Given the description of an element on the screen output the (x, y) to click on. 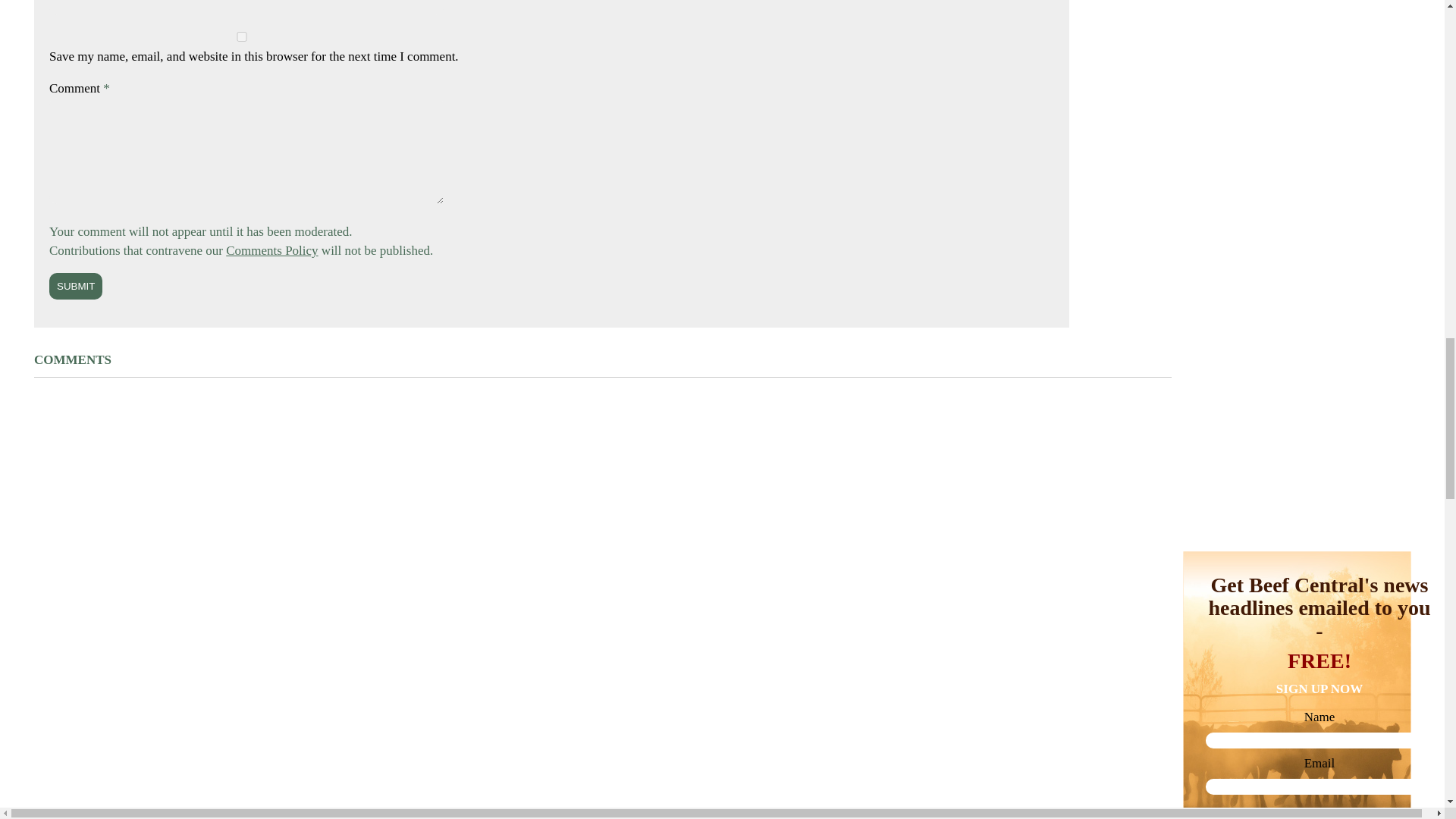
3rd party ad content (1296, 334)
3rd party ad content (1296, 130)
3rd party ad content (1296, 734)
yes (241, 36)
3rd party ad content (1296, 539)
3rd party ad content (1296, 10)
SUBMIT (75, 285)
